Given the description of an element on the screen output the (x, y) to click on. 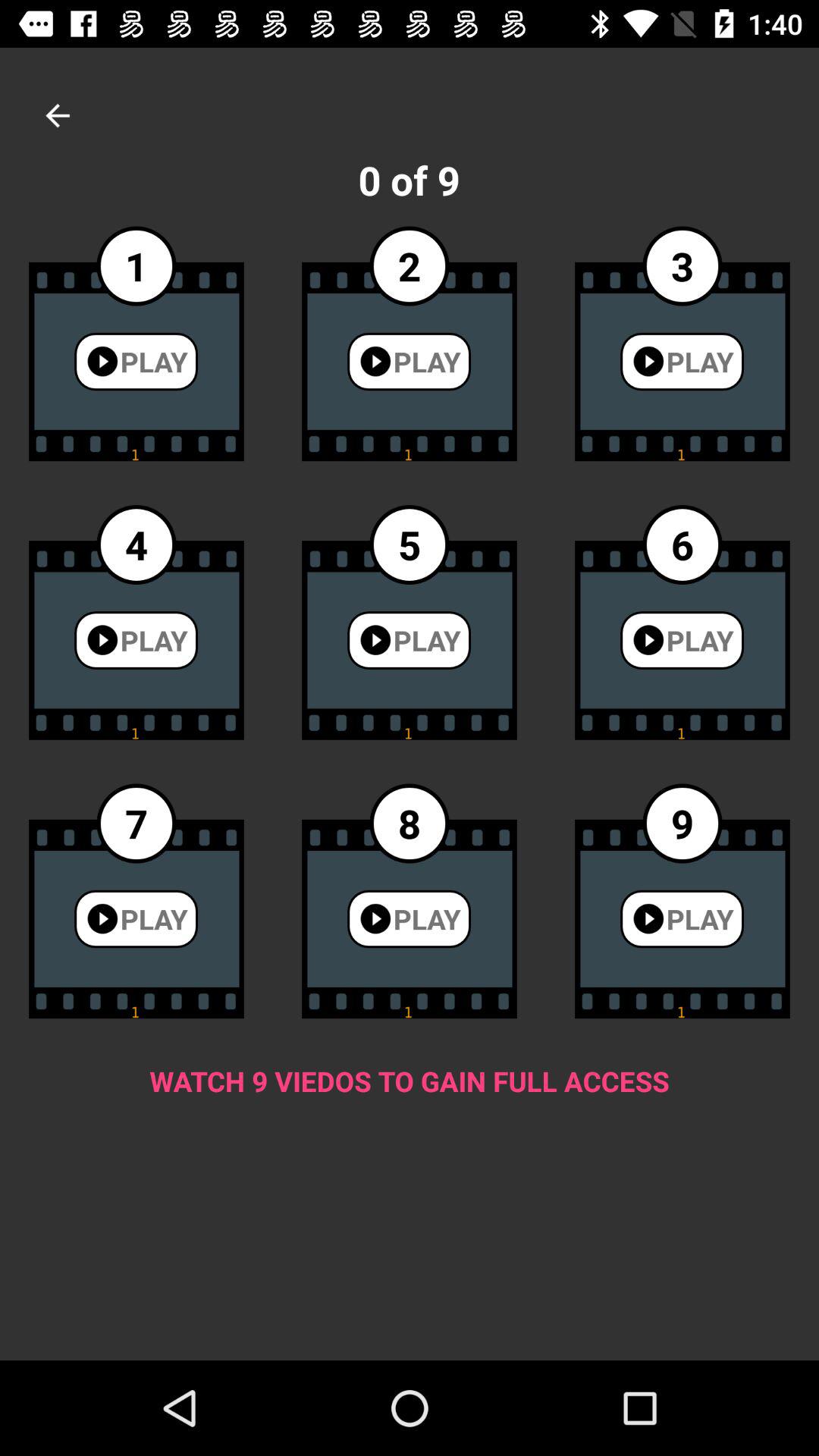
turn on item next to the 0 of 9 (57, 115)
